Given the description of an element on the screen output the (x, y) to click on. 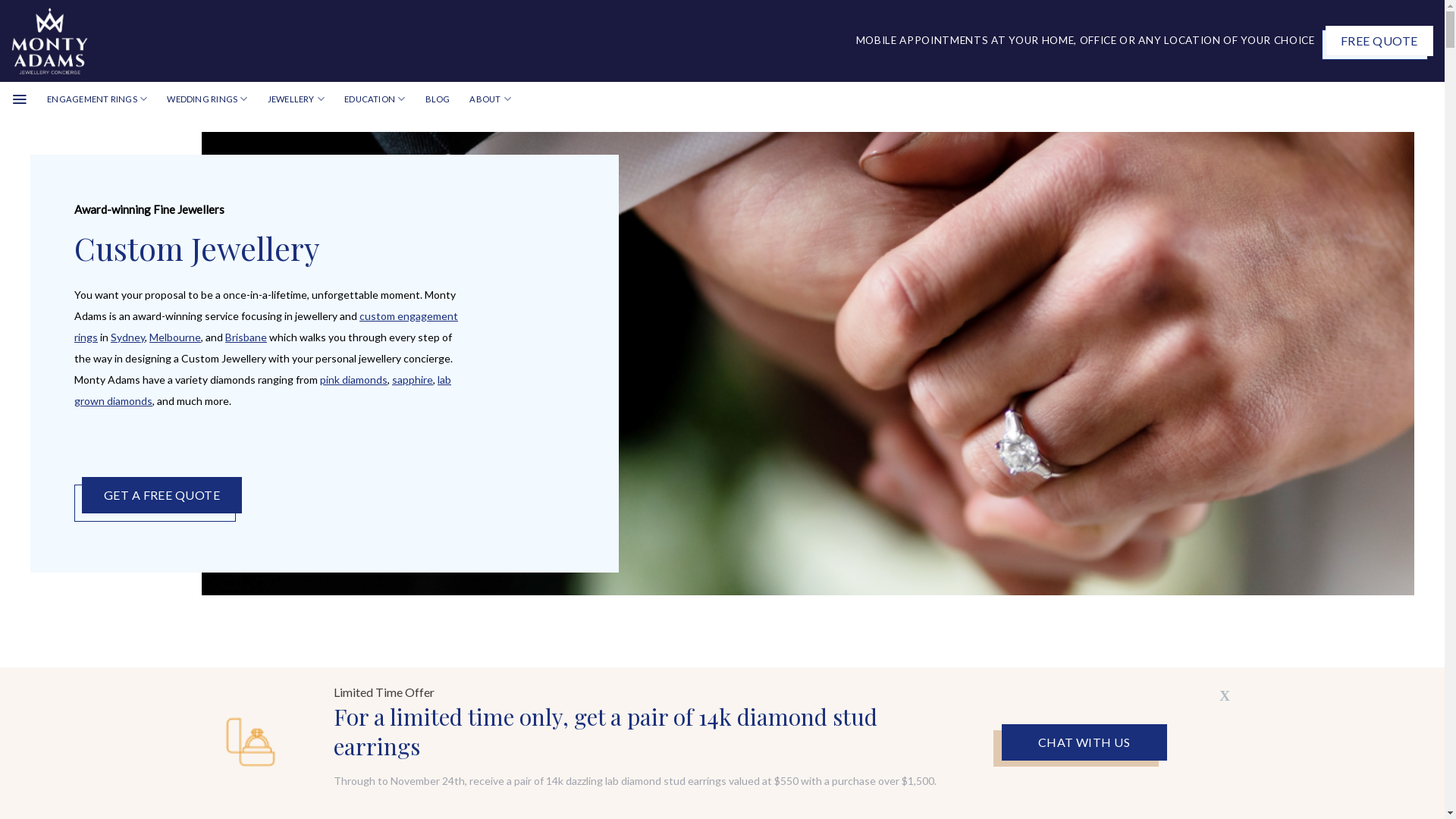
WEDDING RINGS Element type: text (206, 98)
Brisbane Element type: text (245, 336)
sapphire Element type: text (412, 379)
CHAT WITH US Element type: text (1083, 742)
lab grown diamonds Element type: text (262, 390)
Melbourne Element type: text (174, 336)
ENGAGEMENT RINGS Element type: text (97, 98)
EDUCATION Element type: text (374, 98)
BLOG Element type: text (437, 98)
ABOUT Element type: text (490, 98)
pink diamonds Element type: text (353, 379)
JEWELLERY Element type: text (295, 98)
GET A FREE QUOTE Element type: text (161, 494)
FREE QUOTE Element type: text (1379, 40)
Sydney Element type: text (127, 336)
custom engagement rings Element type: text (266, 326)
